Given the description of an element on the screen output the (x, y) to click on. 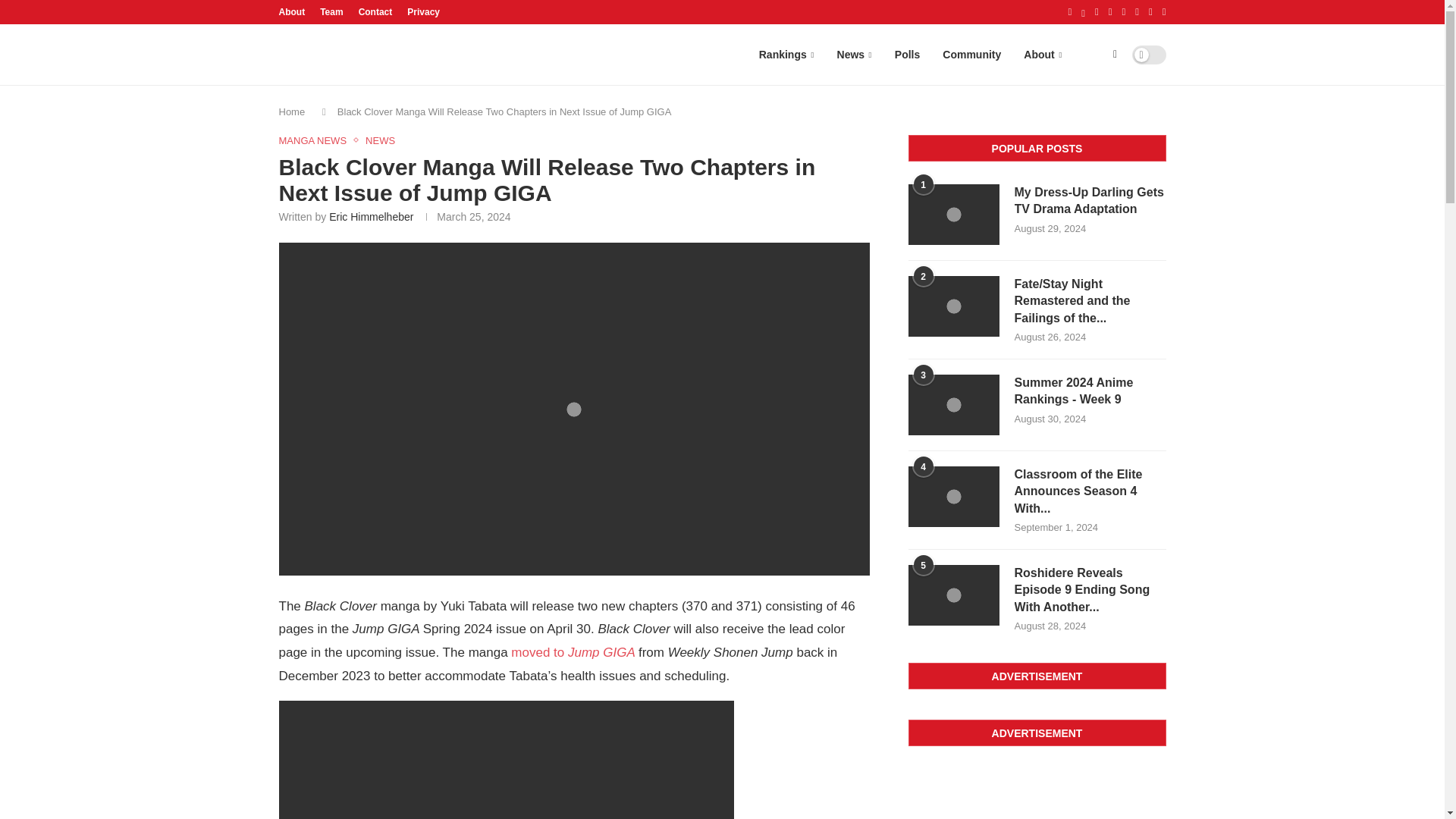
About (292, 12)
Home (292, 111)
NEWS (379, 141)
MANGA NEWS (317, 141)
Rankings (786, 54)
Community (971, 54)
News (854, 54)
Privacy (423, 12)
Team (331, 12)
